Given the description of an element on the screen output the (x, y) to click on. 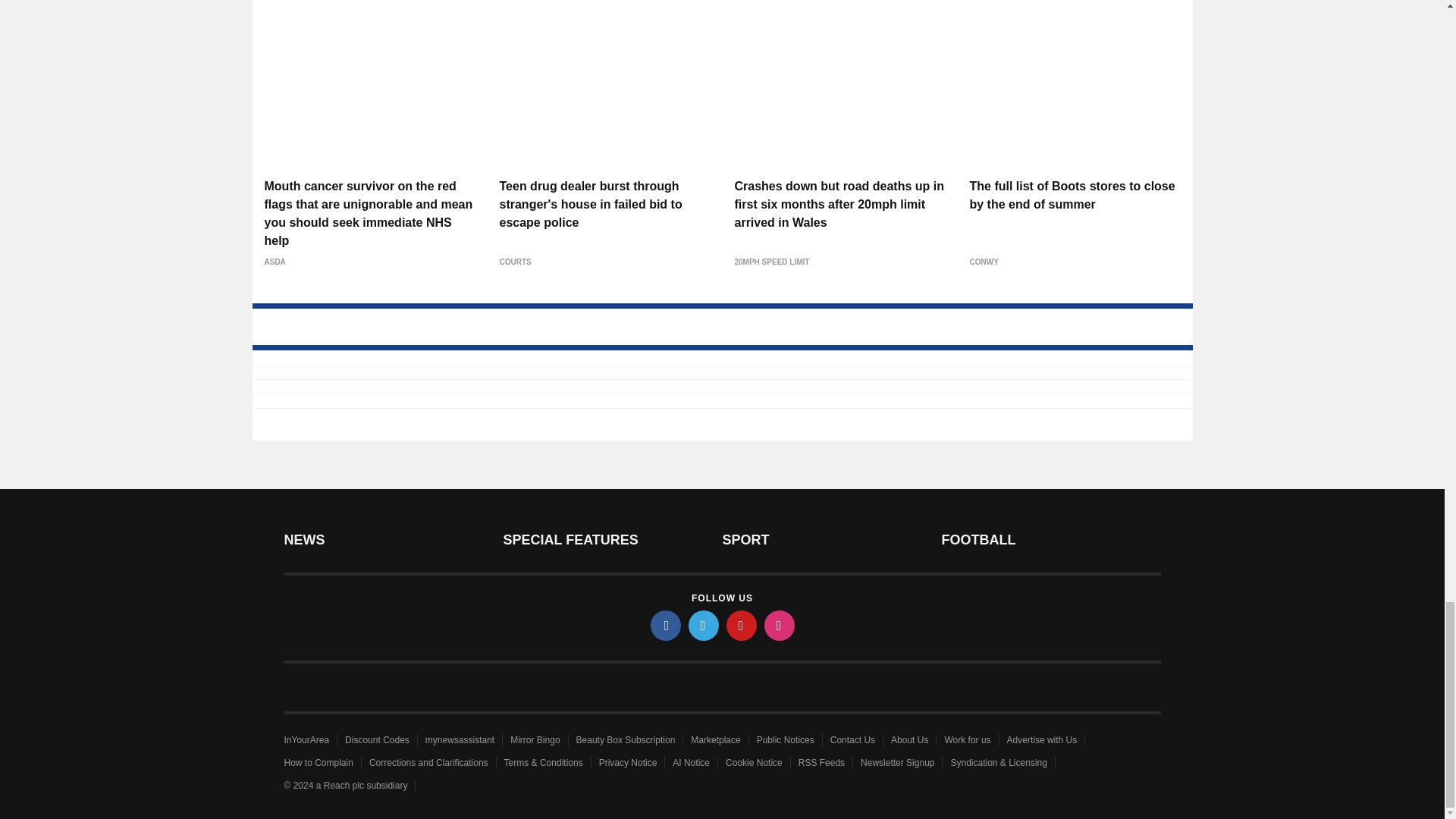
facebook (665, 625)
twitter (703, 625)
pinterest (741, 625)
instagram (779, 625)
